Given the description of an element on the screen output the (x, y) to click on. 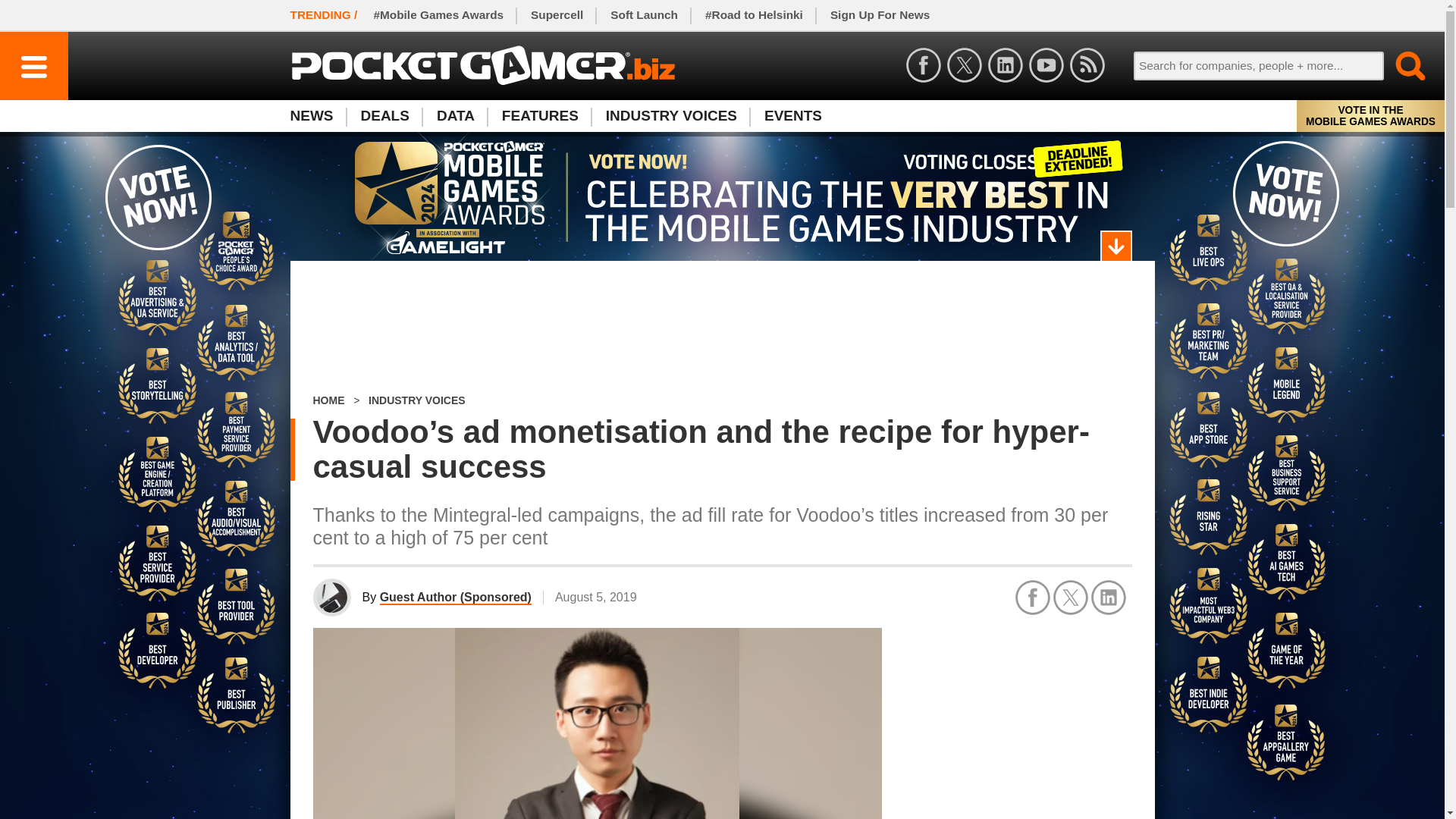
Go (1402, 65)
3rd party ad content (1017, 722)
Supercell (556, 15)
INDUSTRY VOICES (416, 400)
DATA (455, 115)
Soft Launch (643, 15)
Sign Up For News (879, 15)
INDUSTRY VOICES (671, 115)
HOME (328, 400)
Go (1402, 65)
3rd party ad content (722, 328)
NEWS (317, 115)
FEATURES (539, 115)
EVENTS (793, 115)
